Given the description of an element on the screen output the (x, y) to click on. 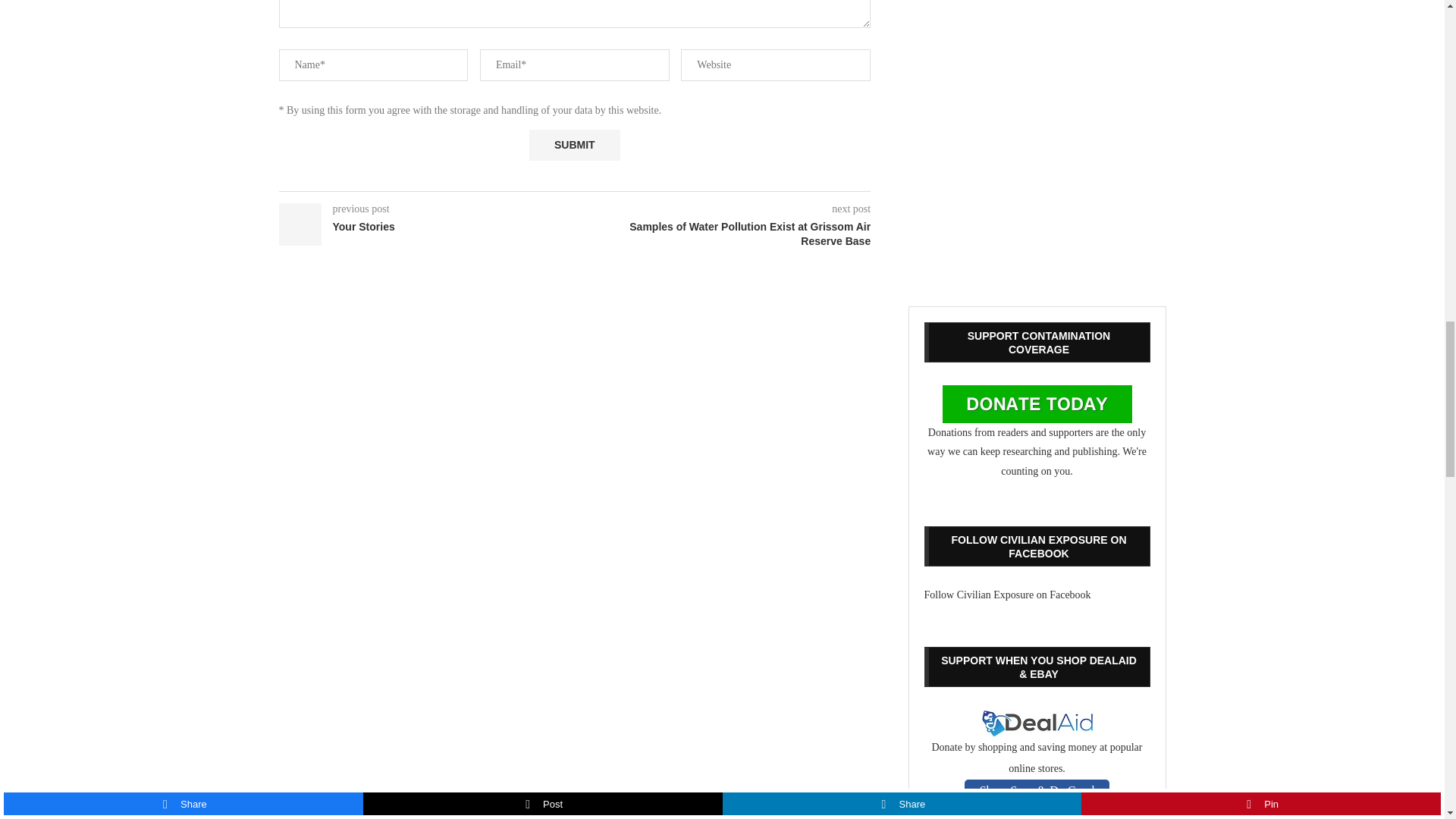
Submit (574, 144)
